Given the description of an element on the screen output the (x, y) to click on. 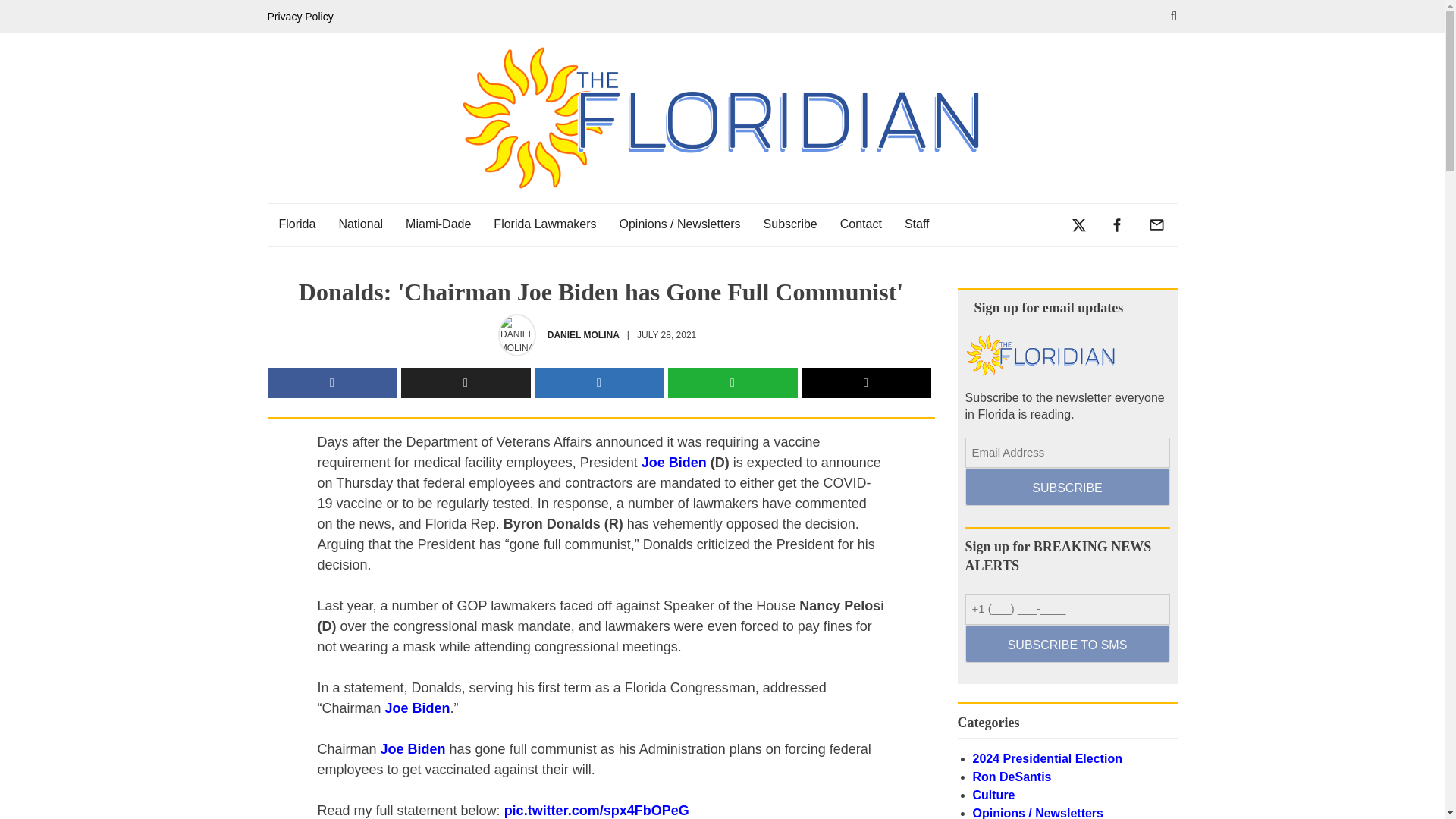
Subscribe (790, 223)
Contact (860, 223)
Florida (296, 223)
Miami-Dade (437, 223)
SUBSCRIBE (1066, 486)
Staff (916, 223)
Privacy Policy (303, 16)
Joe Biden (412, 749)
National (360, 223)
Joe Biden (417, 708)
DANIEL MOLINA (583, 335)
SUBSCRIBE TO SMS (1066, 643)
Joe Biden (674, 462)
Florida Lawmakers (544, 223)
